Given the description of an element on the screen output the (x, y) to click on. 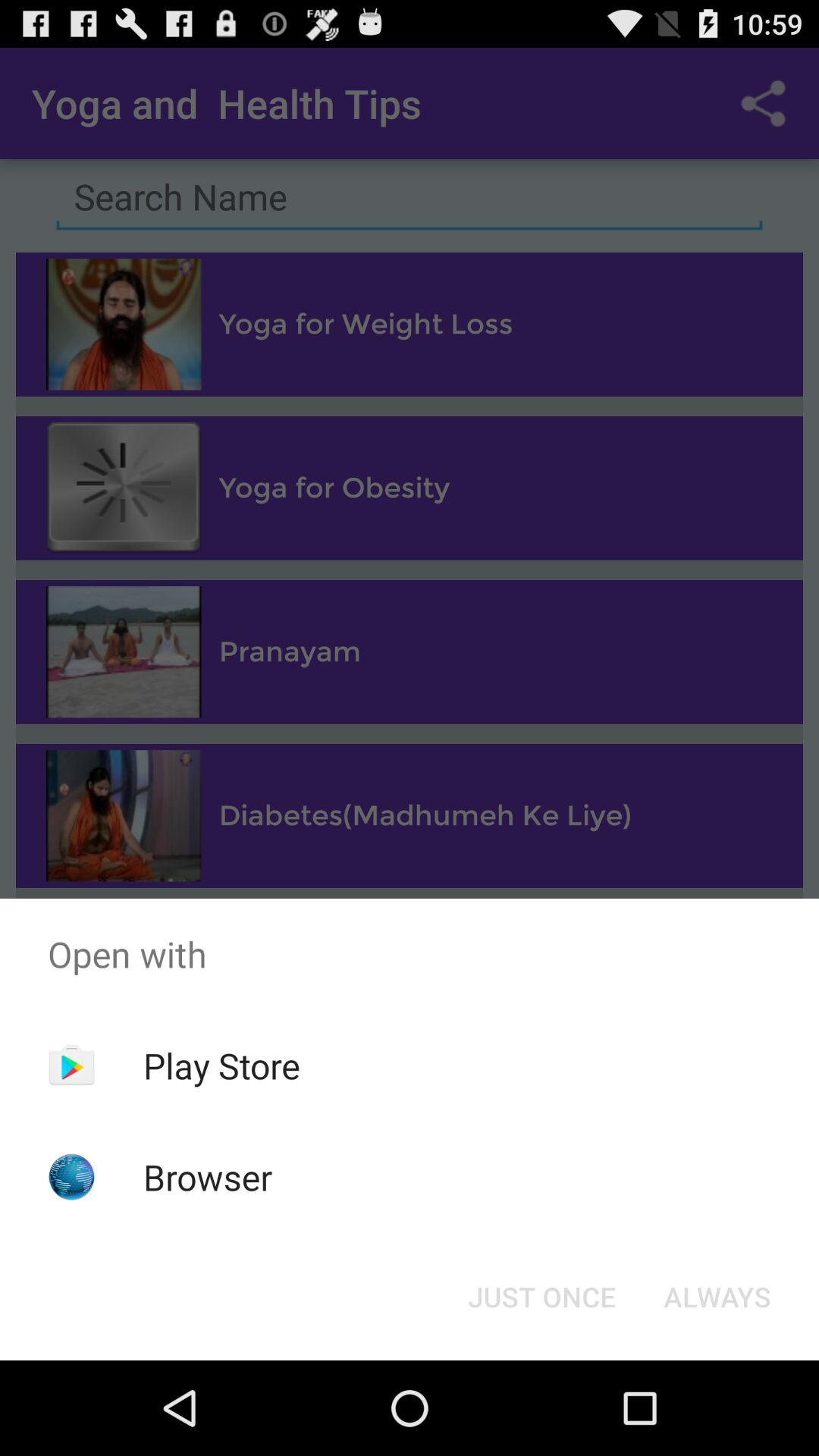
launch the item next to just once icon (717, 1296)
